Given the description of an element on the screen output the (x, y) to click on. 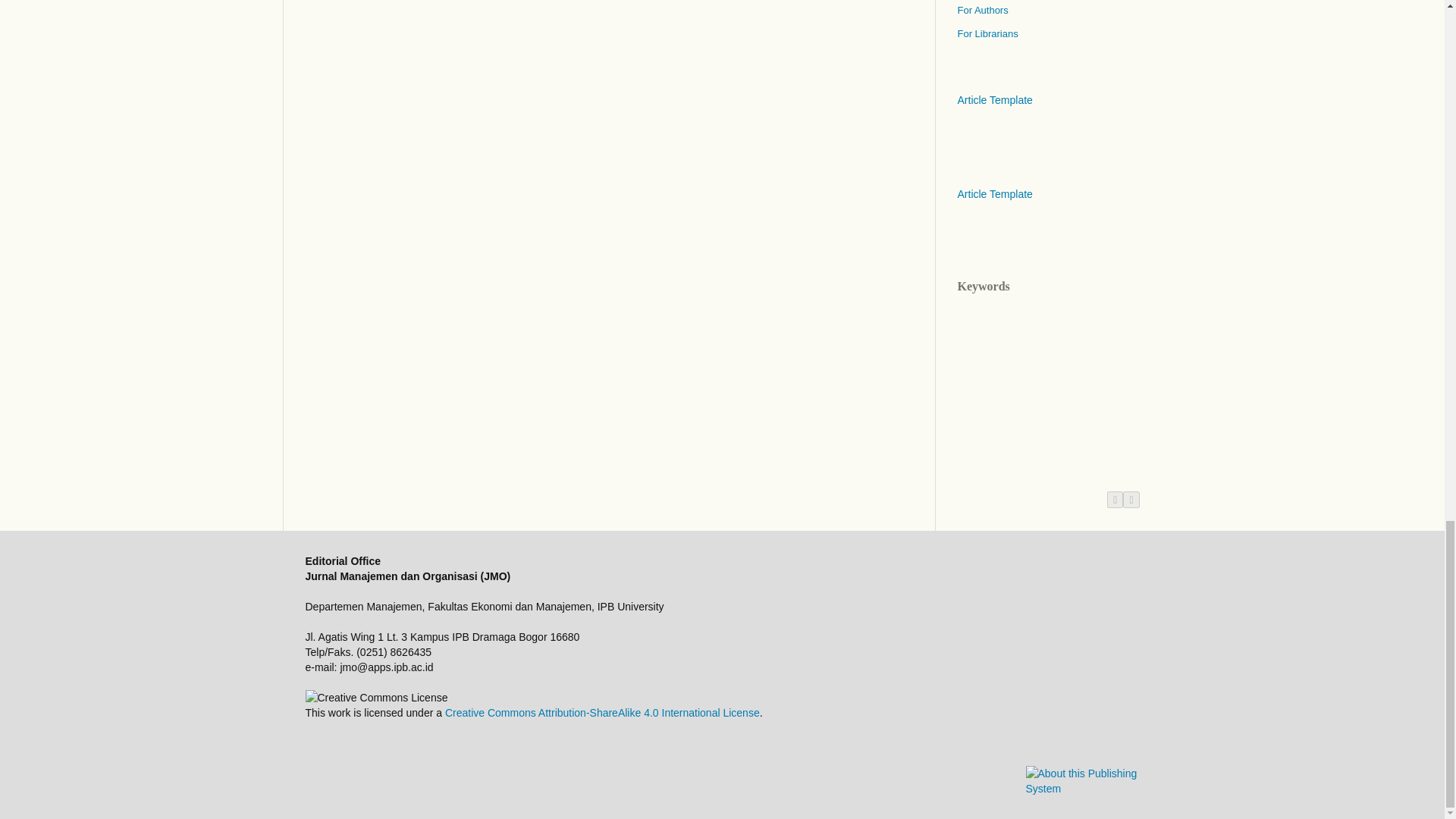
Template (994, 100)
Template (994, 193)
